Given the description of an element on the screen output the (x, y) to click on. 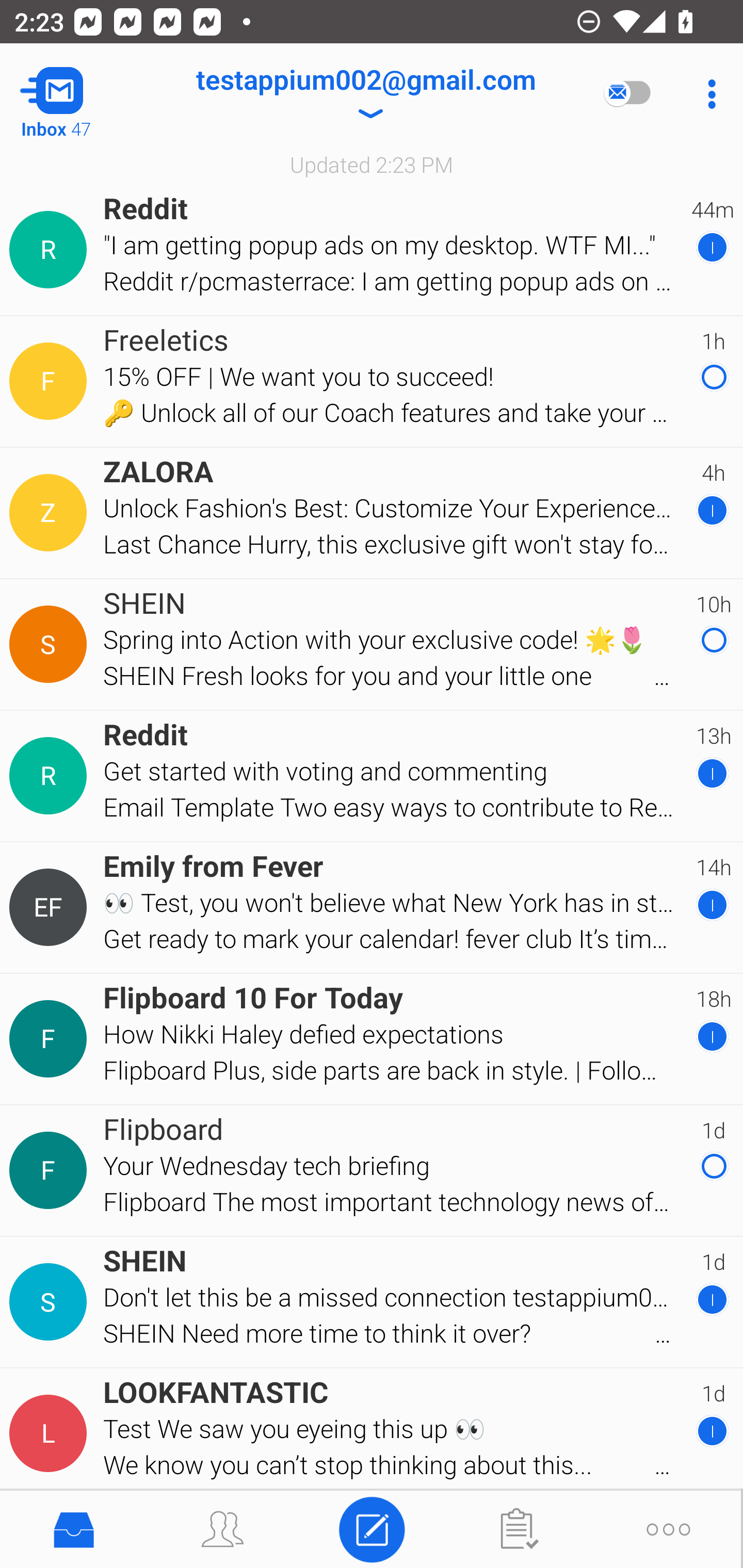
Navigate up (81, 93)
testappium002@gmail.com (365, 93)
More Options (706, 93)
Updated 2:23 PM (371, 164)
Contact Details (50, 250)
Contact Details (50, 381)
Contact Details (50, 513)
Contact Details (50, 644)
Contact Details (50, 776)
Contact Details (50, 907)
Contact Details (50, 1038)
Contact Details (50, 1170)
Contact Details (50, 1302)
Contact Details (50, 1433)
